Given the description of an element on the screen output the (x, y) to click on. 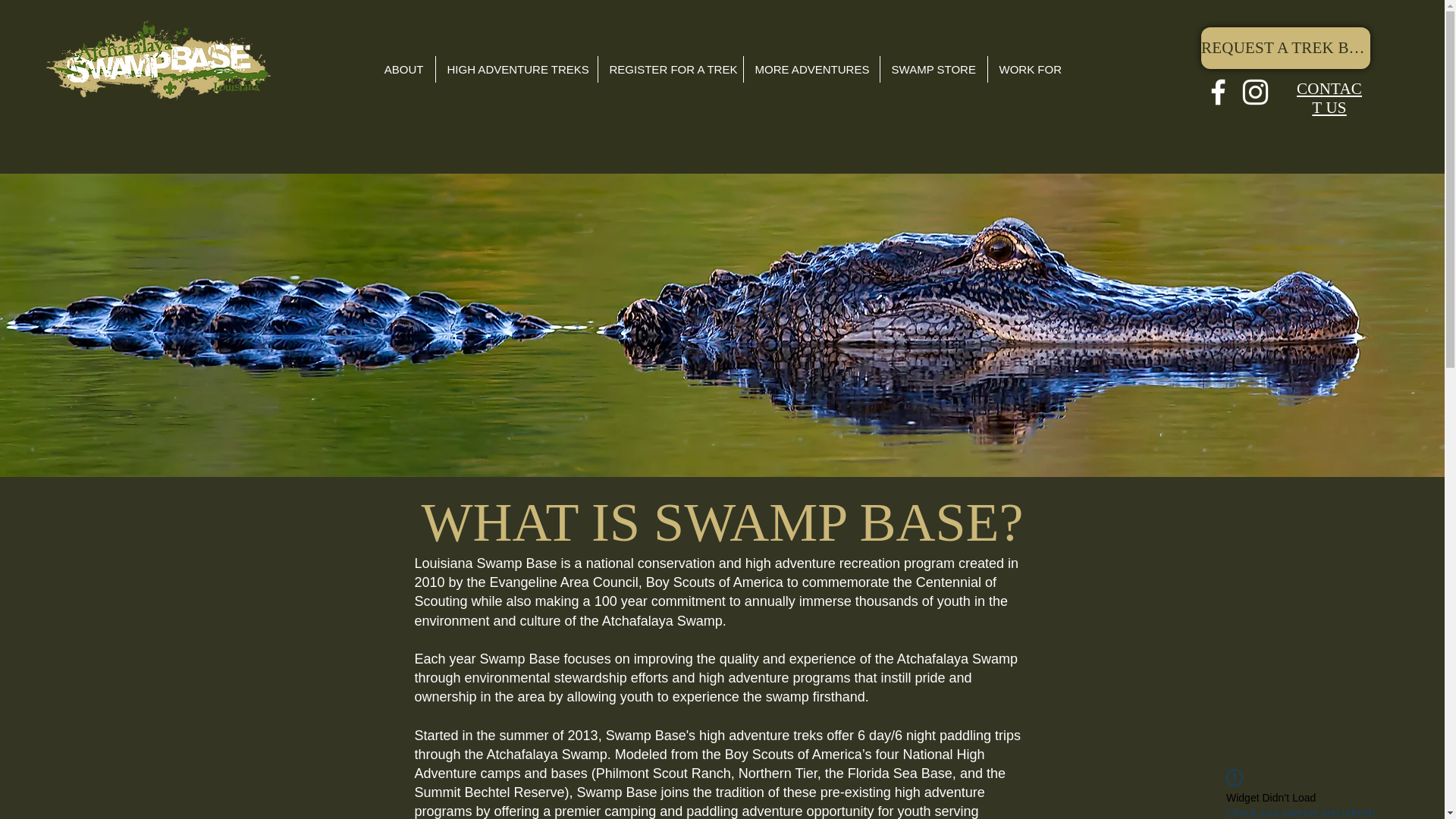
HIGH ADVENTURE TREKS (515, 69)
CONTACT US (1329, 97)
REGISTER FOR A TREK (670, 69)
ABOUT (403, 69)
REQUEST A TREK BROCHURE! (1285, 47)
SWAMP STORE (933, 69)
MORE ADVENTURES (811, 69)
WORK FOR (1030, 69)
